Given the description of an element on the screen output the (x, y) to click on. 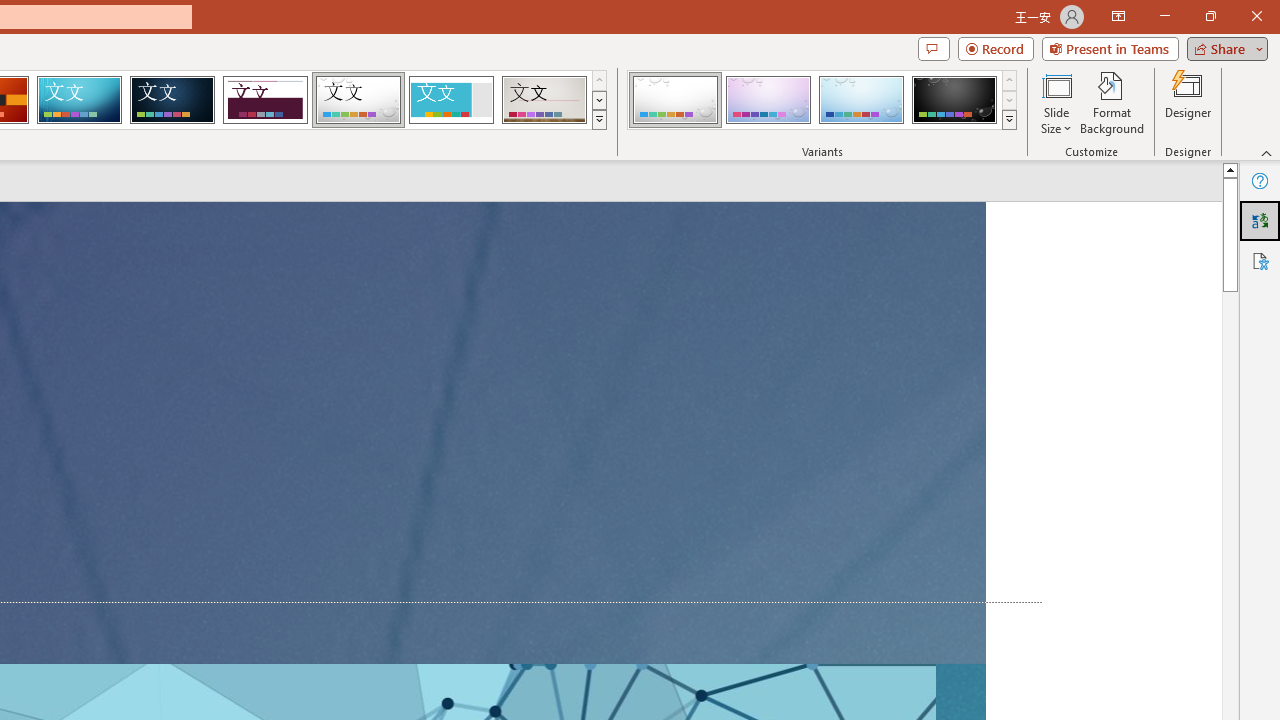
Droplet (358, 100)
